Given the description of an element on the screen output the (x, y) to click on. 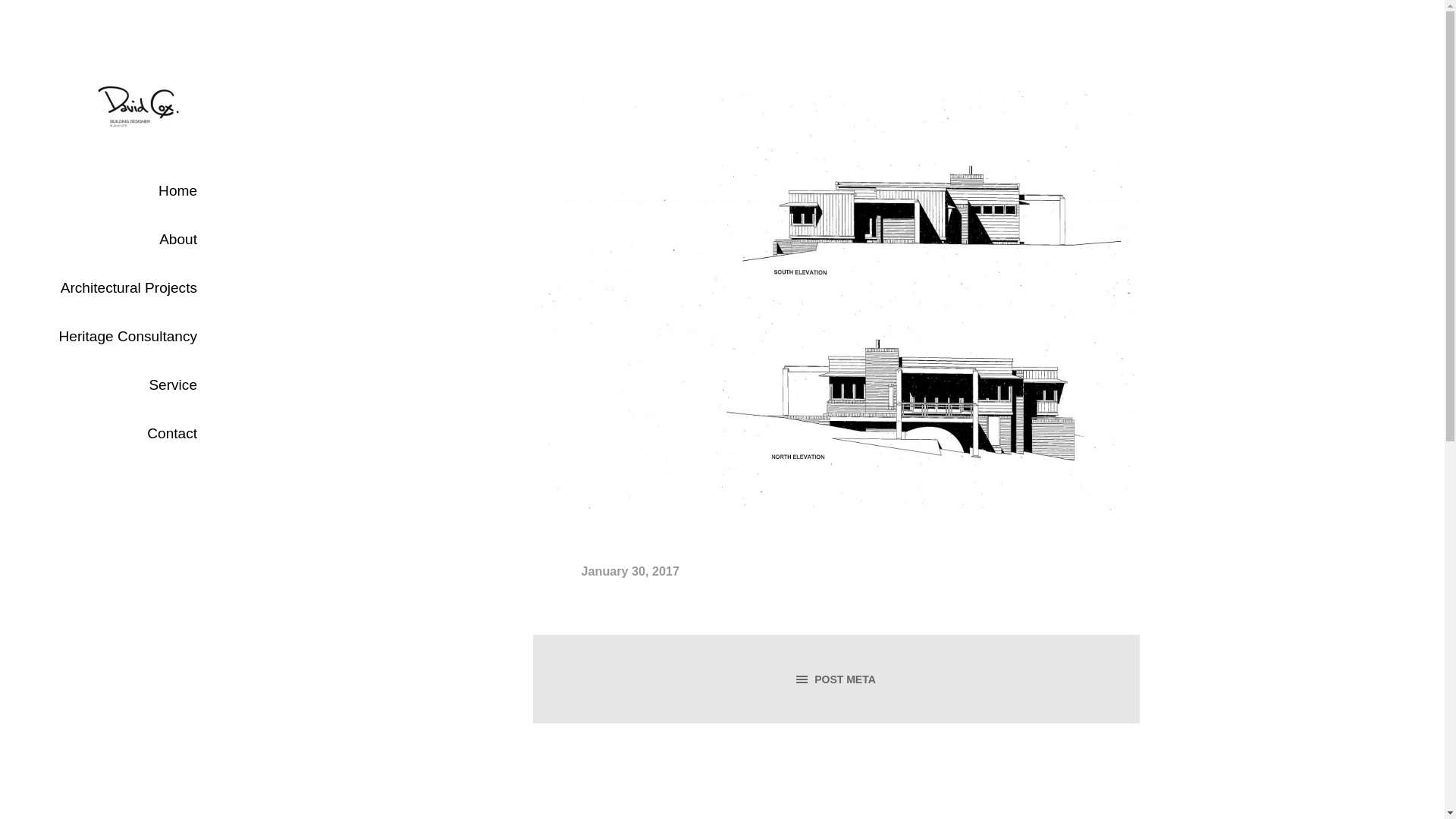
About Element type: text (113, 239)
Home Element type: text (113, 190)
Service Element type: text (113, 384)
Heritage Consultancy Element type: text (113, 336)
Architectural Projects Element type: text (113, 287)
David Cox Design Element type: text (147, 143)
POST META Element type: text (835, 678)
Contact Element type: text (113, 433)
